Given the description of an element on the screen output the (x, y) to click on. 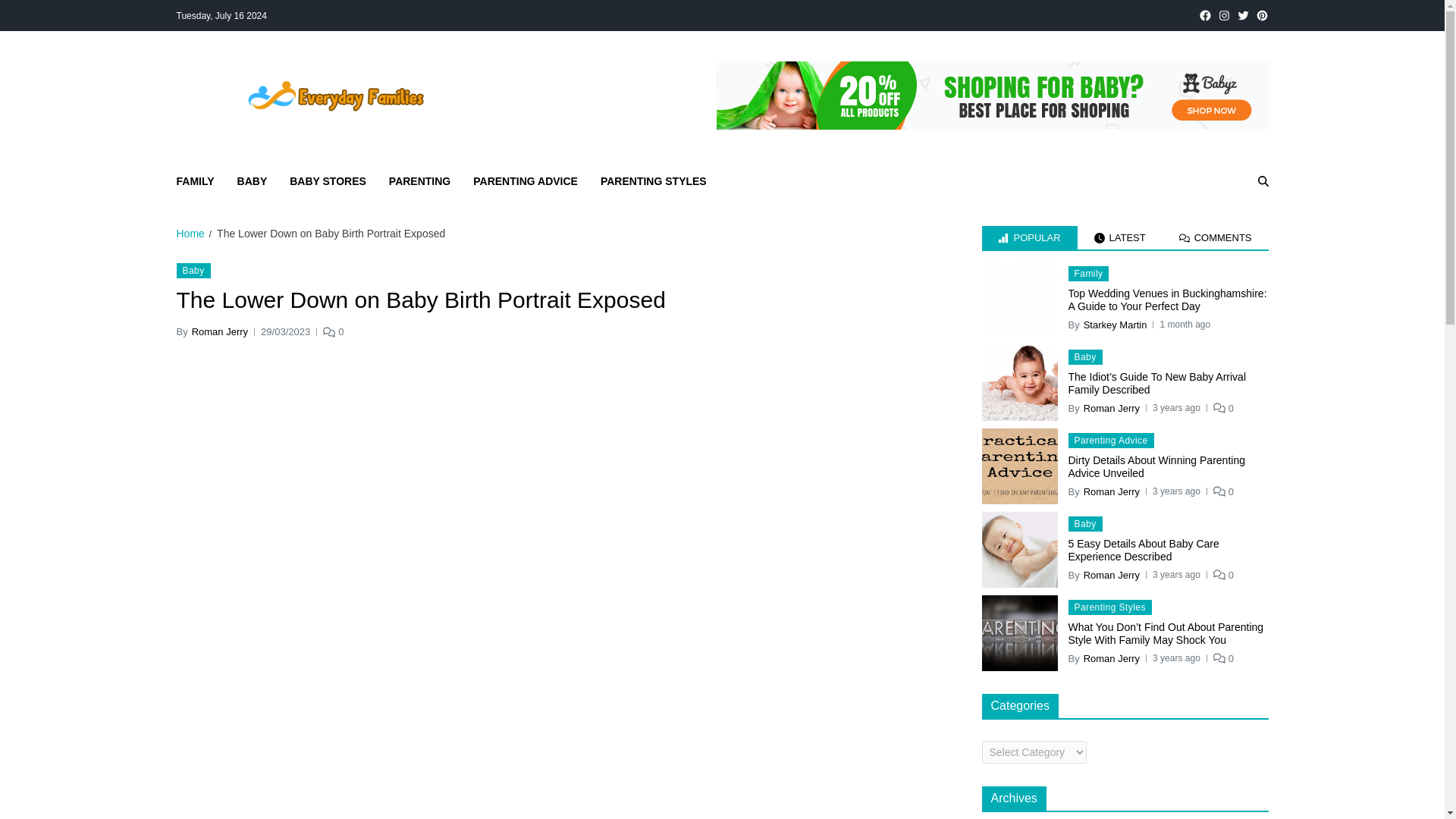
Roman Jerry (1111, 408)
Starkey Martin (1115, 324)
0 (333, 331)
COMMENTS (1214, 238)
5 Easy Details About Baby Care Experience Described (1019, 549)
PARENTING (418, 181)
LATEST (1119, 238)
BABY STORES (327, 181)
Search (1227, 234)
PARENTING STYLES (652, 181)
Baby (1084, 356)
Baby (192, 270)
Family (1087, 273)
